Given the description of an element on the screen output the (x, y) to click on. 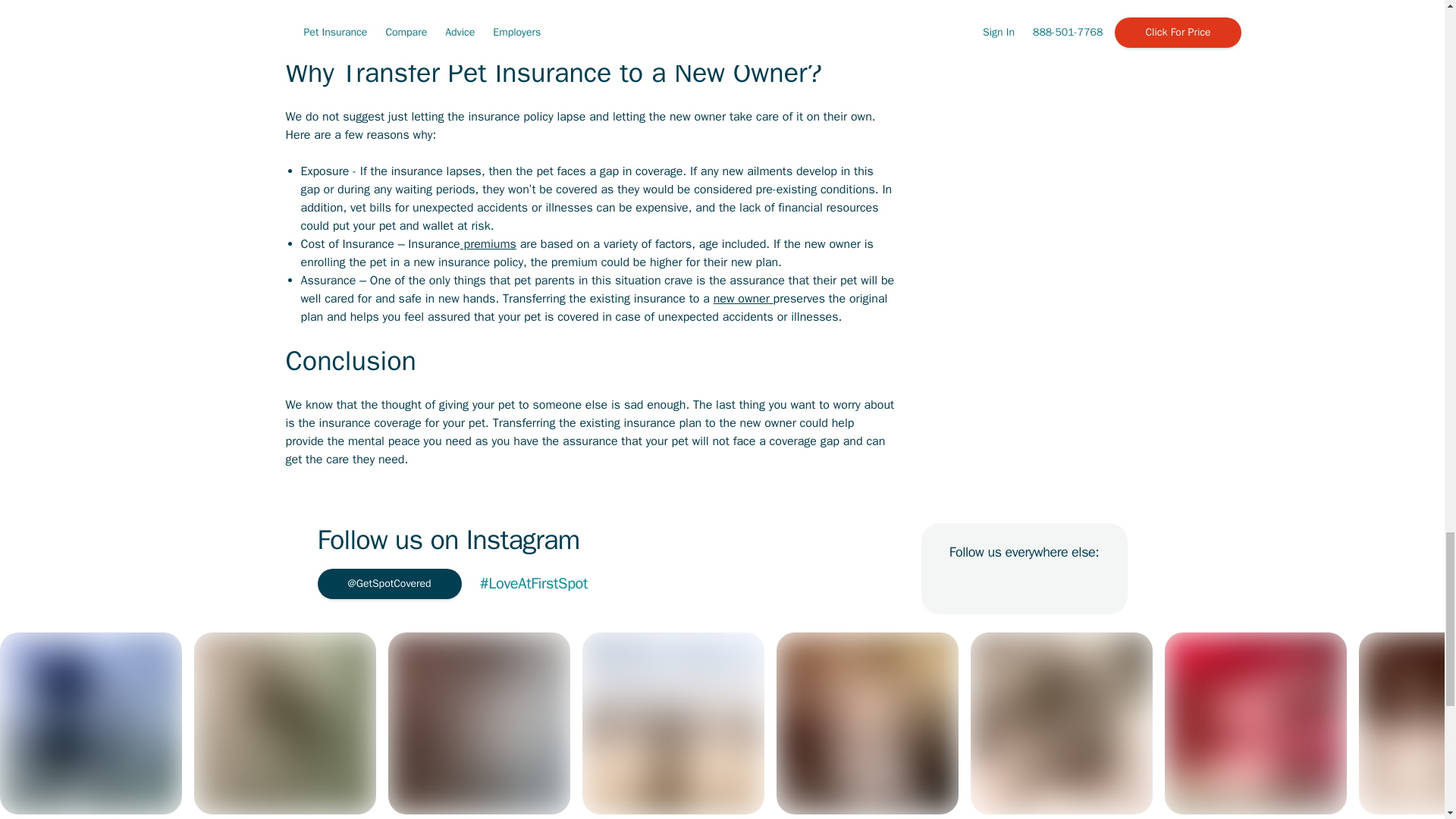
Spot on Facebook (956, 583)
Spot on TikTok (1023, 583)
Spot on X (1056, 583)
Spot on YouTube (1090, 583)
Spot on LinkedIn (990, 583)
